Given the description of an element on the screen output the (x, y) to click on. 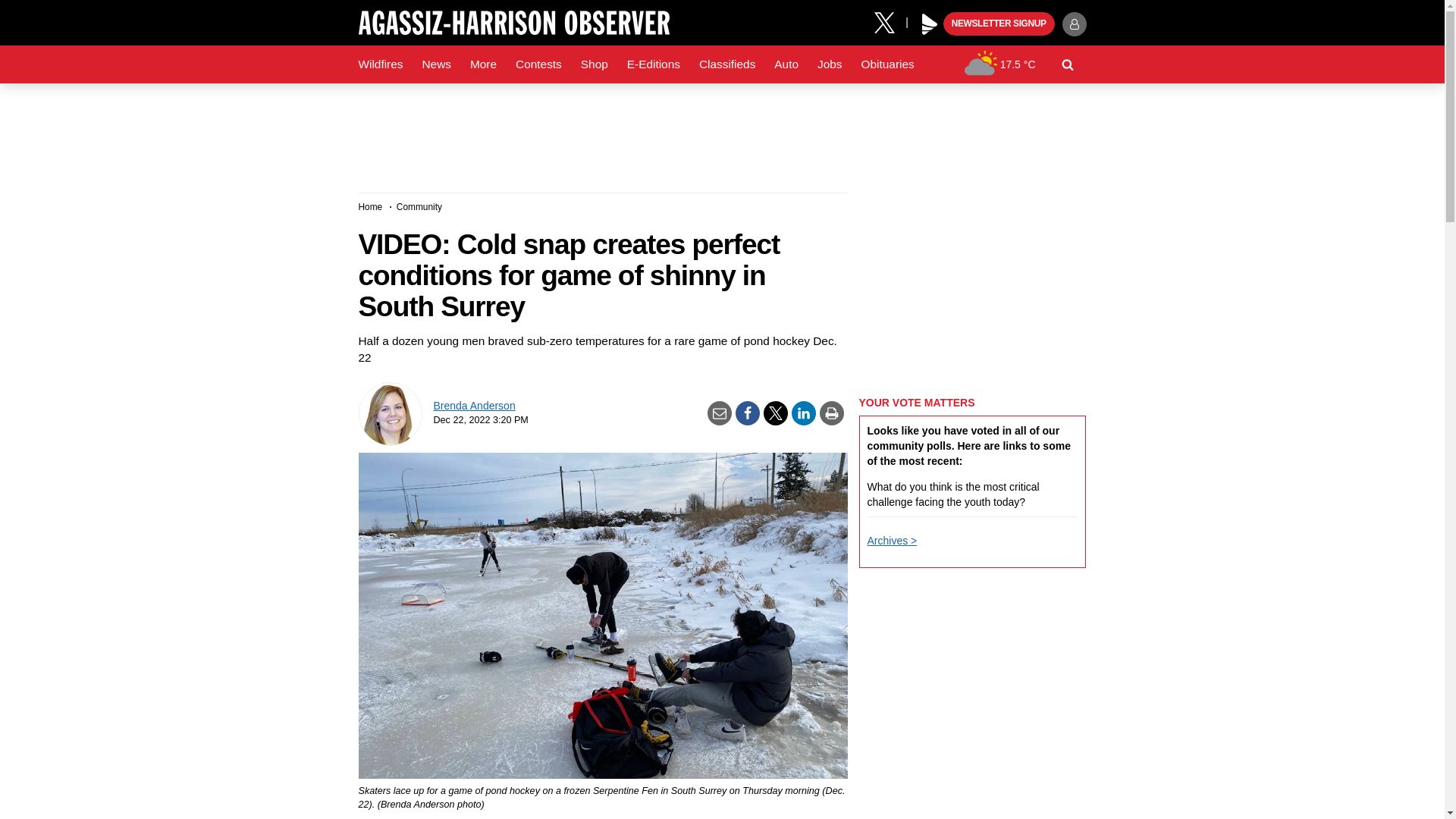
News (435, 64)
NEWSLETTER SIGNUP (998, 24)
X (889, 21)
Wildfires (380, 64)
Play (929, 24)
Black Press Media (929, 24)
